Given the description of an element on the screen output the (x, y) to click on. 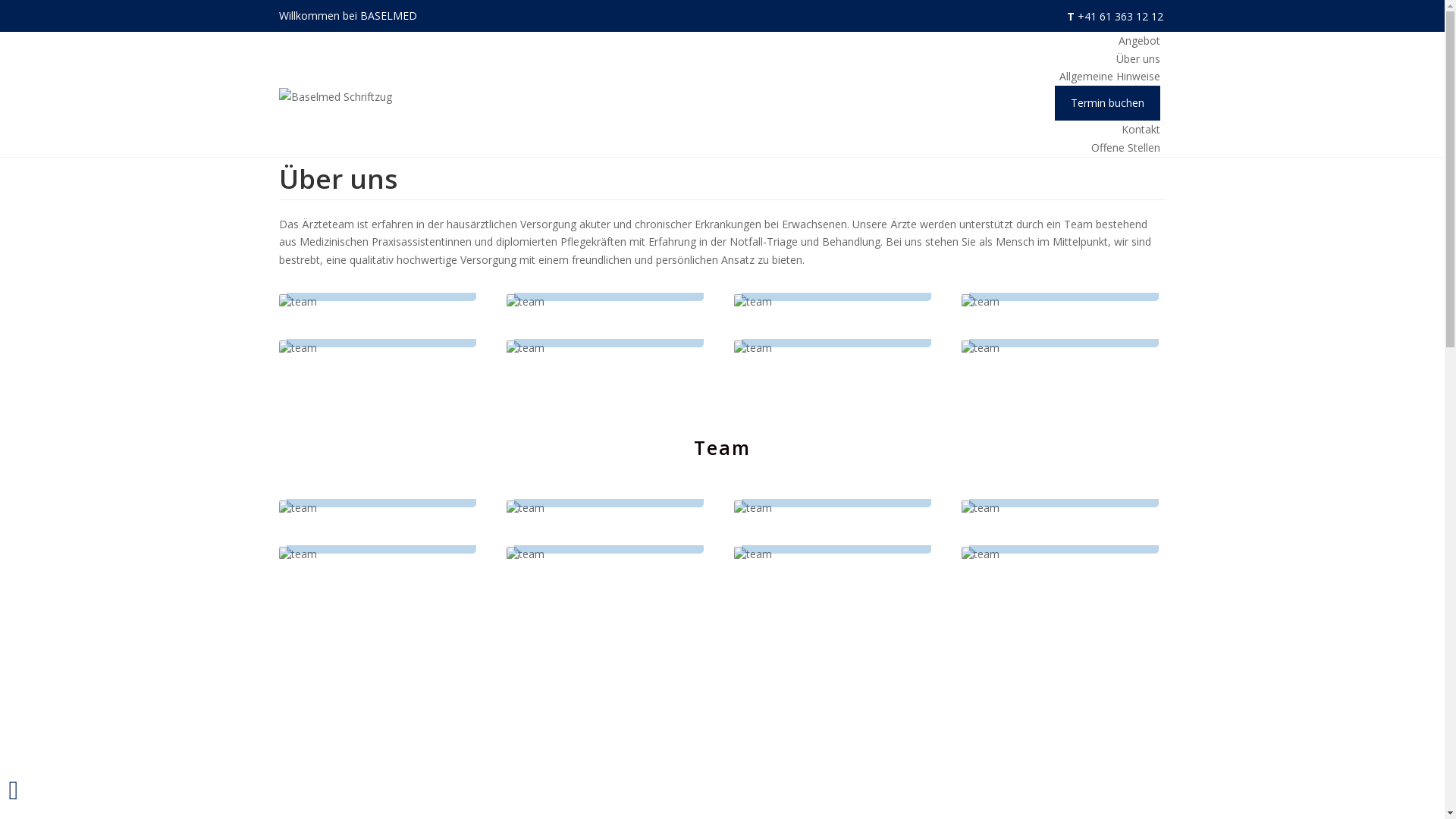
Kontakt Element type: text (1140, 129)
DR. MED. OLIVER MARIC Element type: text (608, 313)
DR. MED. ANNA BARMET Element type: text (381, 267)
DR. MED. CELIA VON GOSSLER Element type: text (1063, 313)
DR. MED. JULIA FISCHER Element type: text (608, 267)
LISA FITZ Element type: text (836, 530)
Angebot Element type: text (1139, 40)
DR. MED. CORINA KOLLERT Element type: text (1063, 267)
DR. MED. MANUELA LOWO Element type: text (381, 313)
Offene Stellen Element type: text (1125, 147)
VIVIAN ALBANI Element type: text (381, 484)
+41 61 363 12 12 Element type: text (1120, 16)
DAMIEN BLATZ Element type: text (381, 530)
DR. ZUZANA JIROUT Element type: text (836, 278)
HANNAH AVIGNI Element type: text (608, 484)
Termin buchen Element type: text (1107, 102)
Allgemeine Hinweise Element type: text (1109, 76)
BAVITHRAN BALASUNDARAM Element type: text (1063, 473)
DR. MED. ANNETTE ORWAT Element type: text (836, 313)
ALICIA BURTSCHER Element type: text (608, 530)
REBECCA HAAG Element type: text (1063, 530)
